Given the description of an element on the screen output the (x, y) to click on. 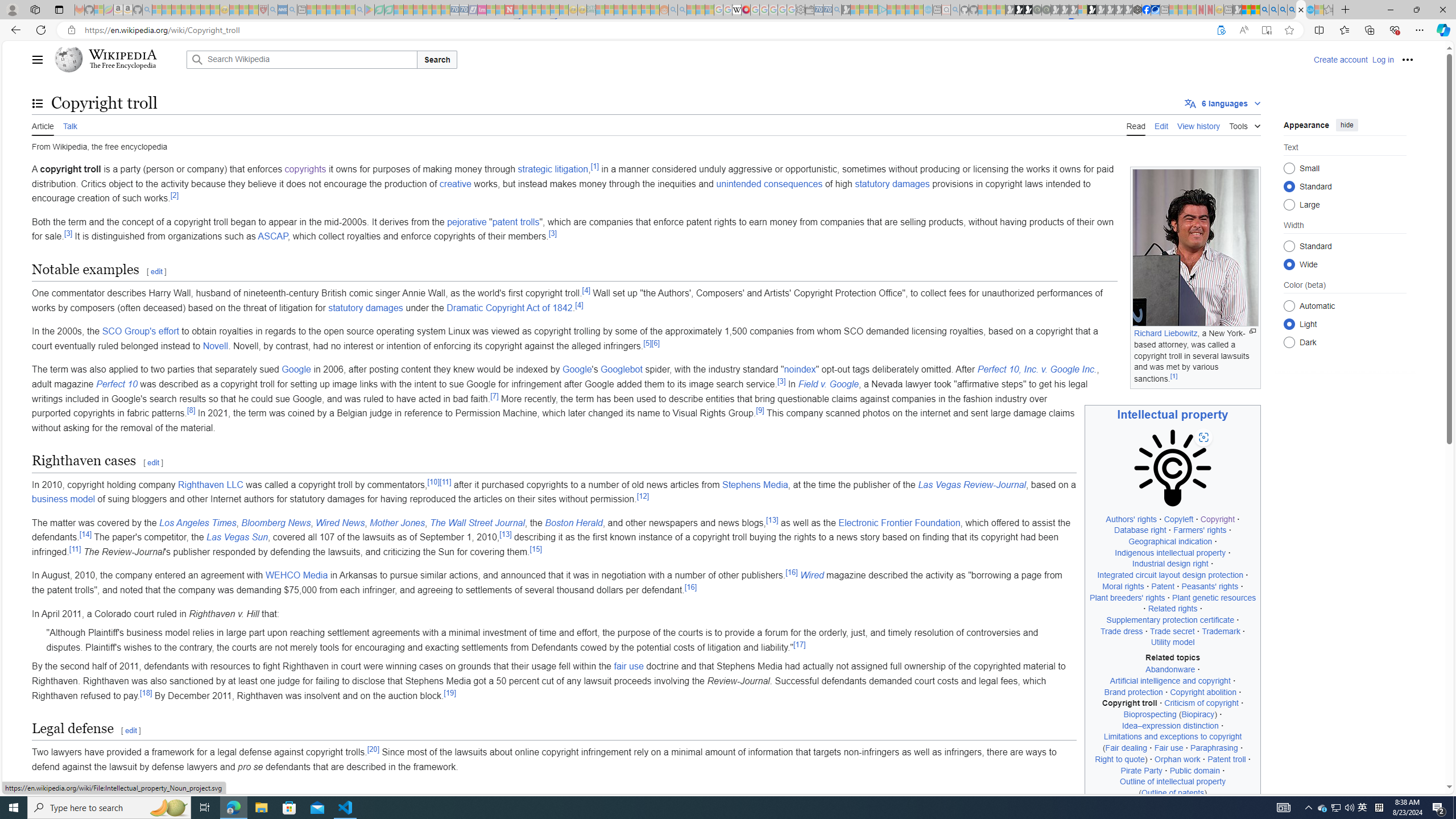
Artificial intelligence and copyright (1169, 680)
Wikipedia The Free Encyclopedia (117, 59)
Class: mw-file-description (1172, 468)
Wired (812, 575)
unintended consequences (769, 183)
Related rights (1172, 608)
Farmers' rights (1200, 529)
Peasants' rights (1209, 586)
